Given the description of an element on the screen output the (x, y) to click on. 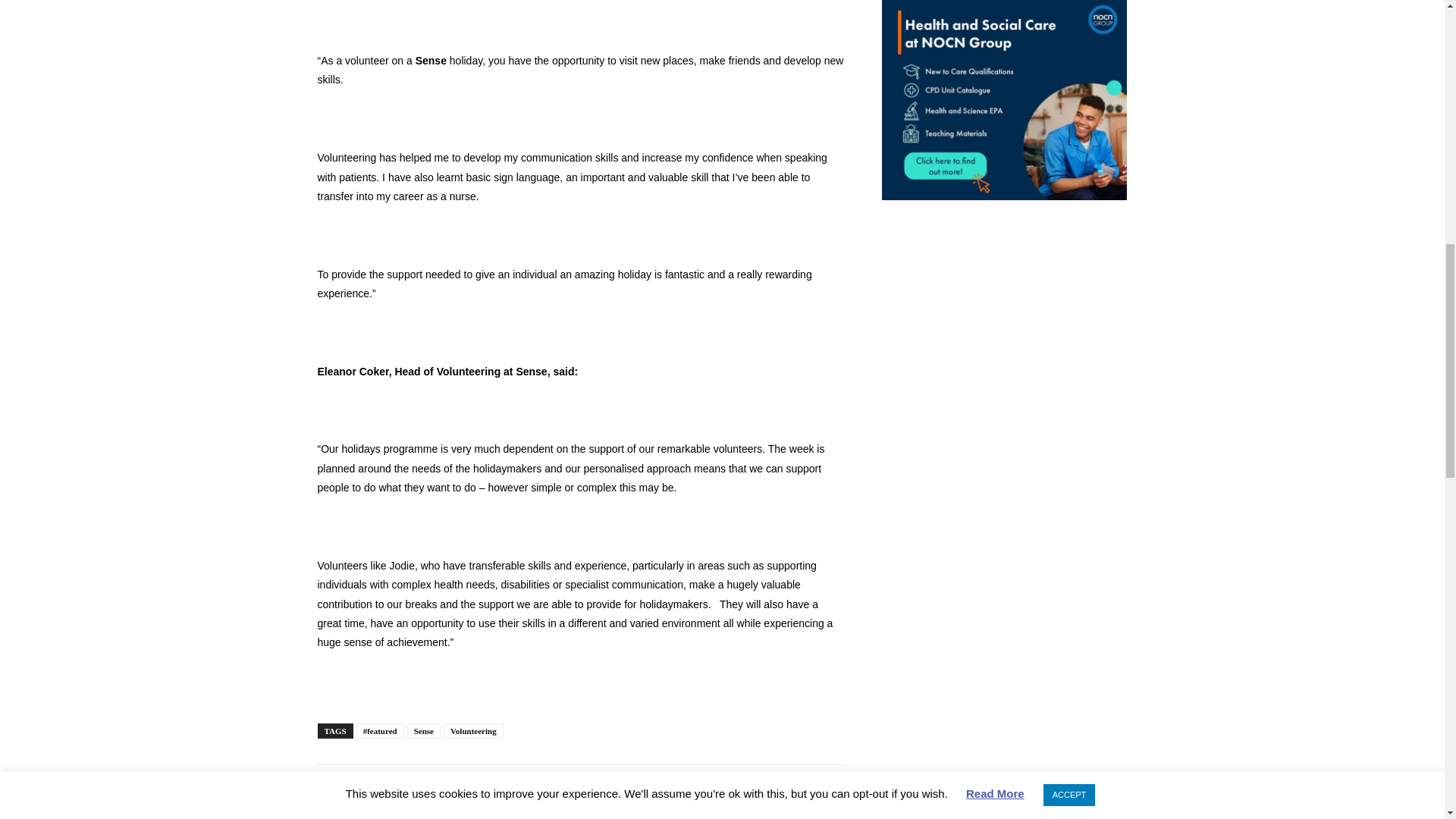
Linkedin (401, 796)
Sense (424, 730)
Volunteering (473, 730)
Twitter (366, 796)
Facebook (332, 796)
